Given the description of an element on the screen output the (x, y) to click on. 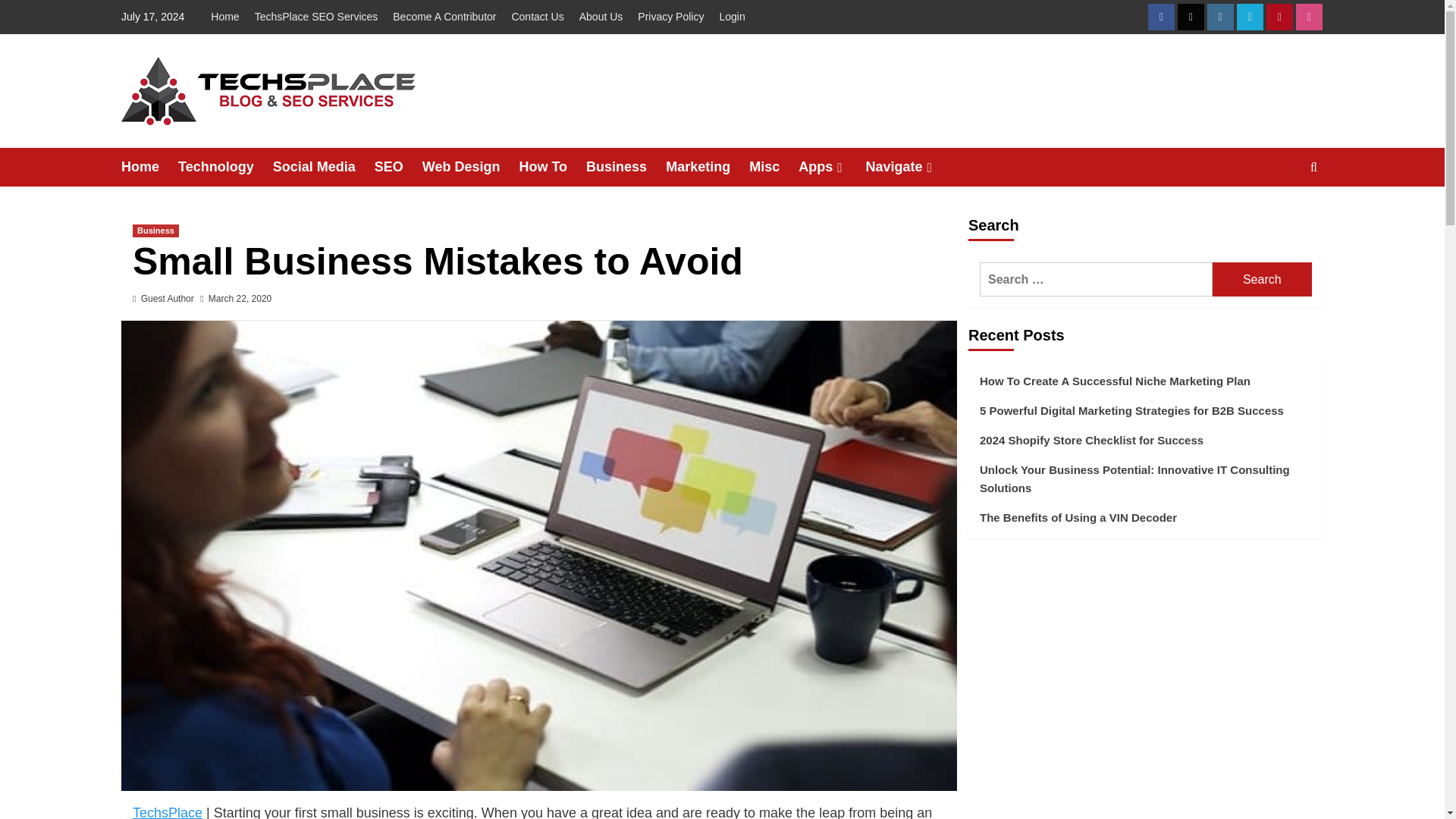
Marketing (707, 167)
Business (625, 167)
How To (552, 167)
SEO (398, 167)
Login (731, 17)
TechsPlace SEO Services (316, 17)
Twitter (1190, 17)
Facebook (1161, 17)
Technology (225, 167)
Search (1278, 213)
Navigate (909, 167)
Contact Us (536, 17)
Become A Contributor (444, 17)
Vimeo (1249, 17)
Web Design (470, 167)
